Given the description of an element on the screen output the (x, y) to click on. 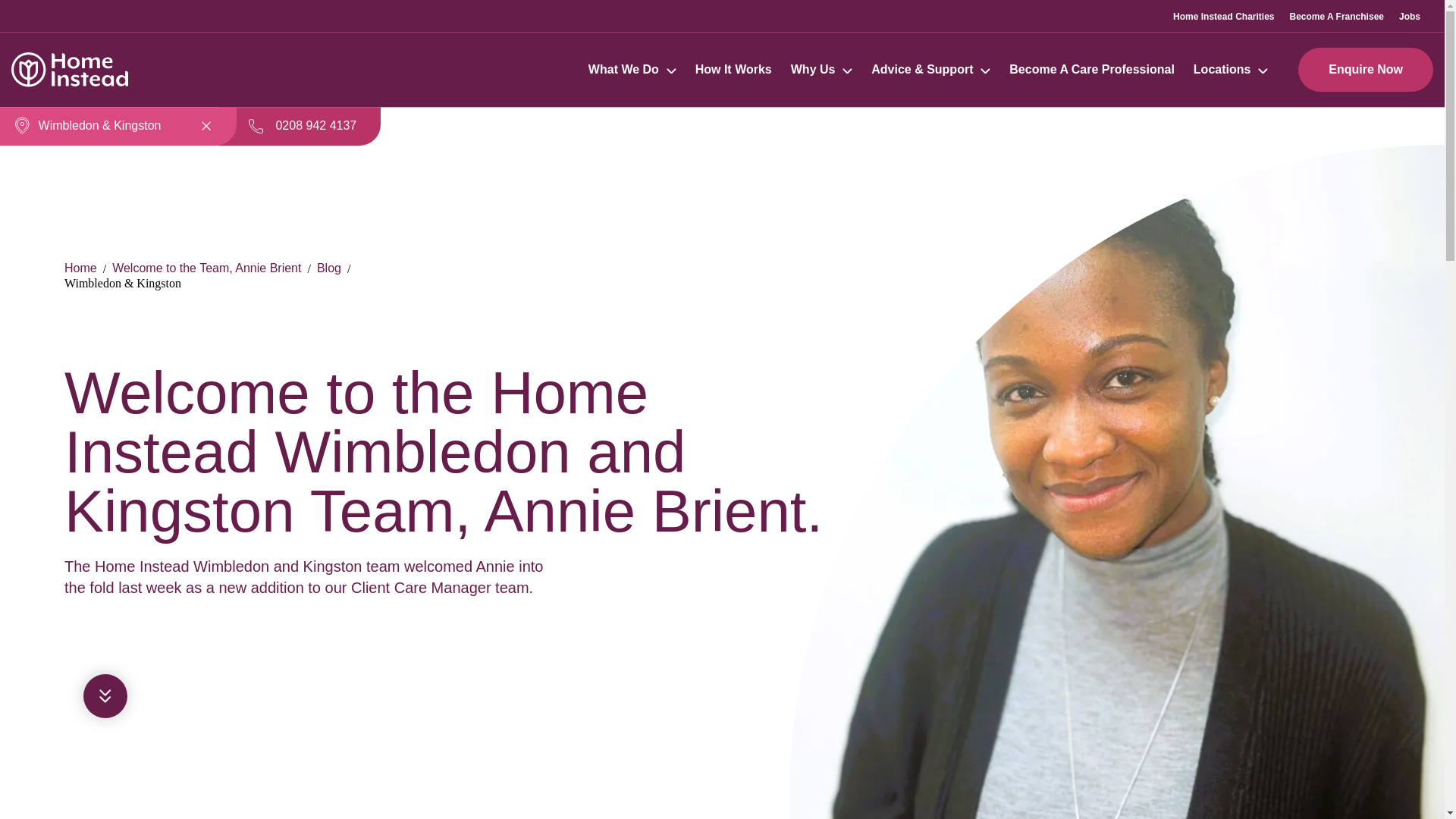
What We Do (632, 69)
What We Do (623, 69)
Locations (1230, 69)
Locations (1221, 69)
Home Instead Charities (1223, 15)
Become A Care Professional (1091, 69)
Why Us (820, 69)
Become A Franchisee (1336, 15)
How It Works (733, 69)
What We Do (623, 69)
How It Works (733, 69)
Why Us (812, 69)
Why Us (812, 69)
Jobs (1410, 15)
